Given the description of an element on the screen output the (x, y) to click on. 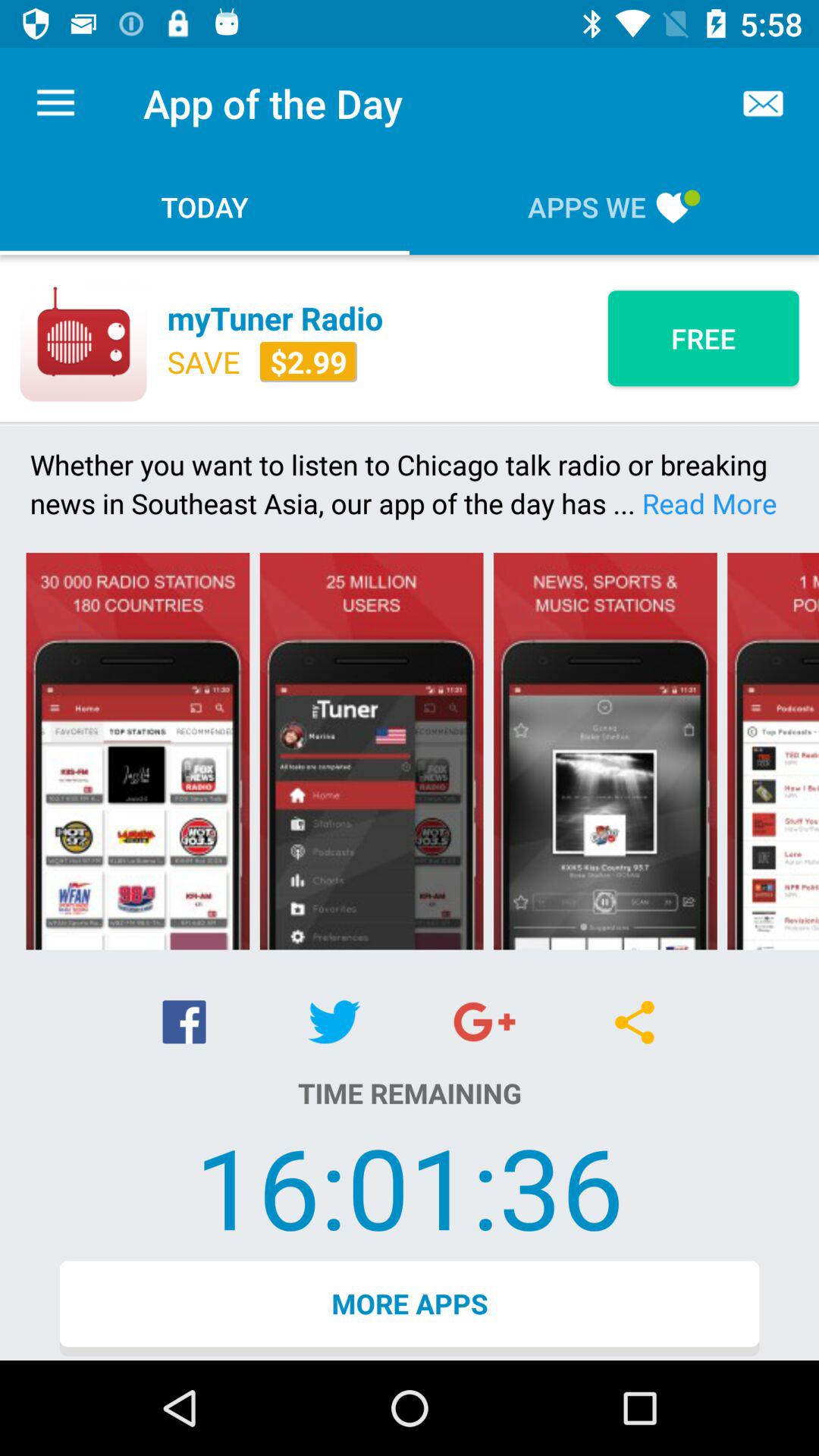
press the icon at the bottom left corner (184, 1021)
